Given the description of an element on the screen output the (x, y) to click on. 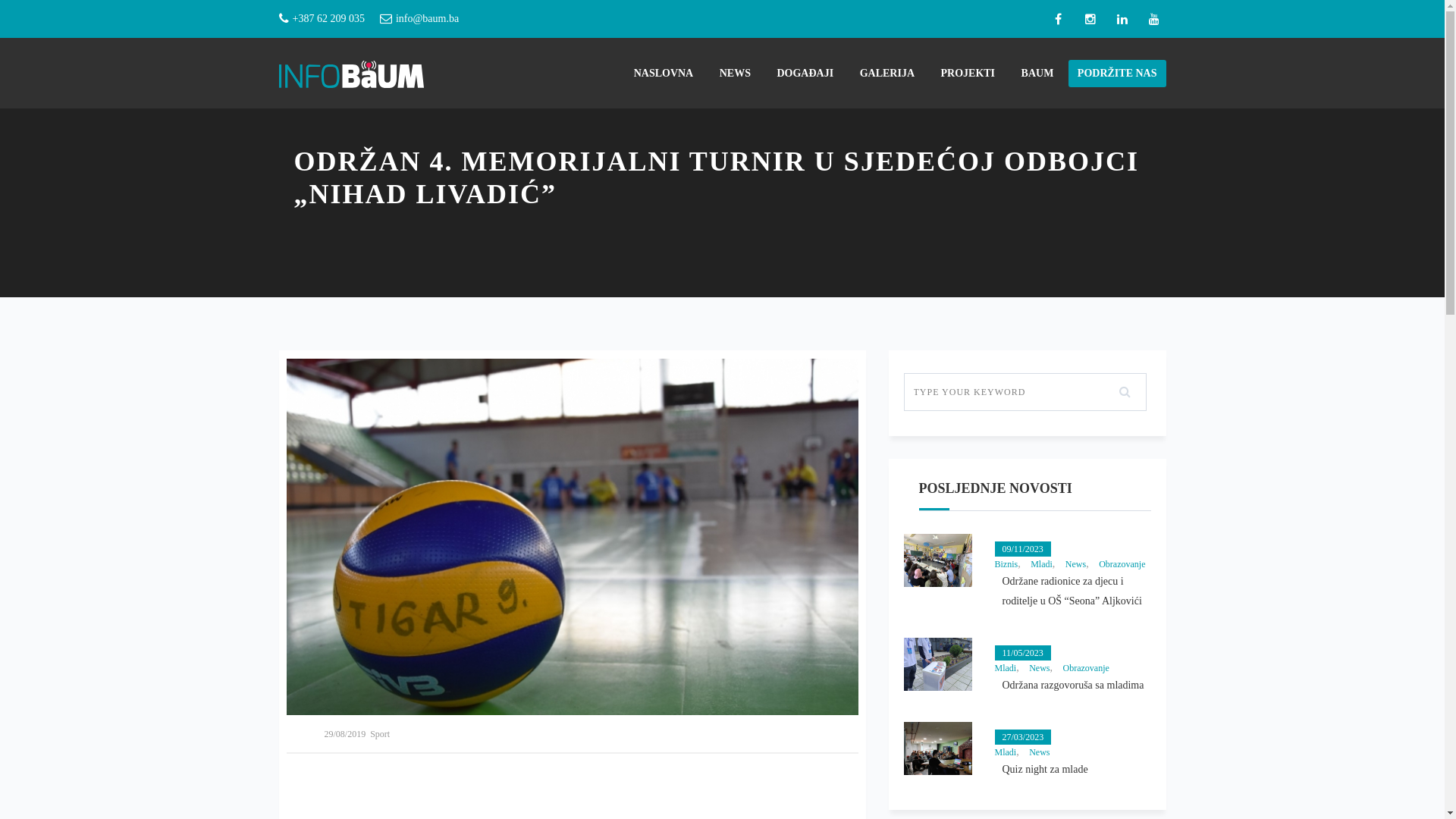
BAUM Element type: text (1037, 72)
Obrazovanje Element type: text (1121, 563)
NEWS Element type: text (735, 72)
Sport Element type: text (379, 733)
Biznis Element type: text (1006, 563)
info@baum.ba Element type: text (426, 18)
InfoBaUM Element type: hover (351, 72)
Obrazovanje Element type: text (1086, 667)
NASLOVNA Element type: text (663, 72)
Mladi Element type: text (1041, 563)
News Element type: text (1075, 563)
PROJEKTI Element type: text (968, 72)
GALERIJA Element type: text (886, 72)
Mladi Element type: text (1005, 667)
Quiz night za mlade Element type: hover (937, 748)
Mladi Element type: text (1005, 751)
29/08/2019 Element type: text (345, 733)
News Element type: text (1039, 667)
News Element type: text (1039, 751)
Quiz night za mlade Element type: text (1076, 769)
